Given the description of an element on the screen output the (x, y) to click on. 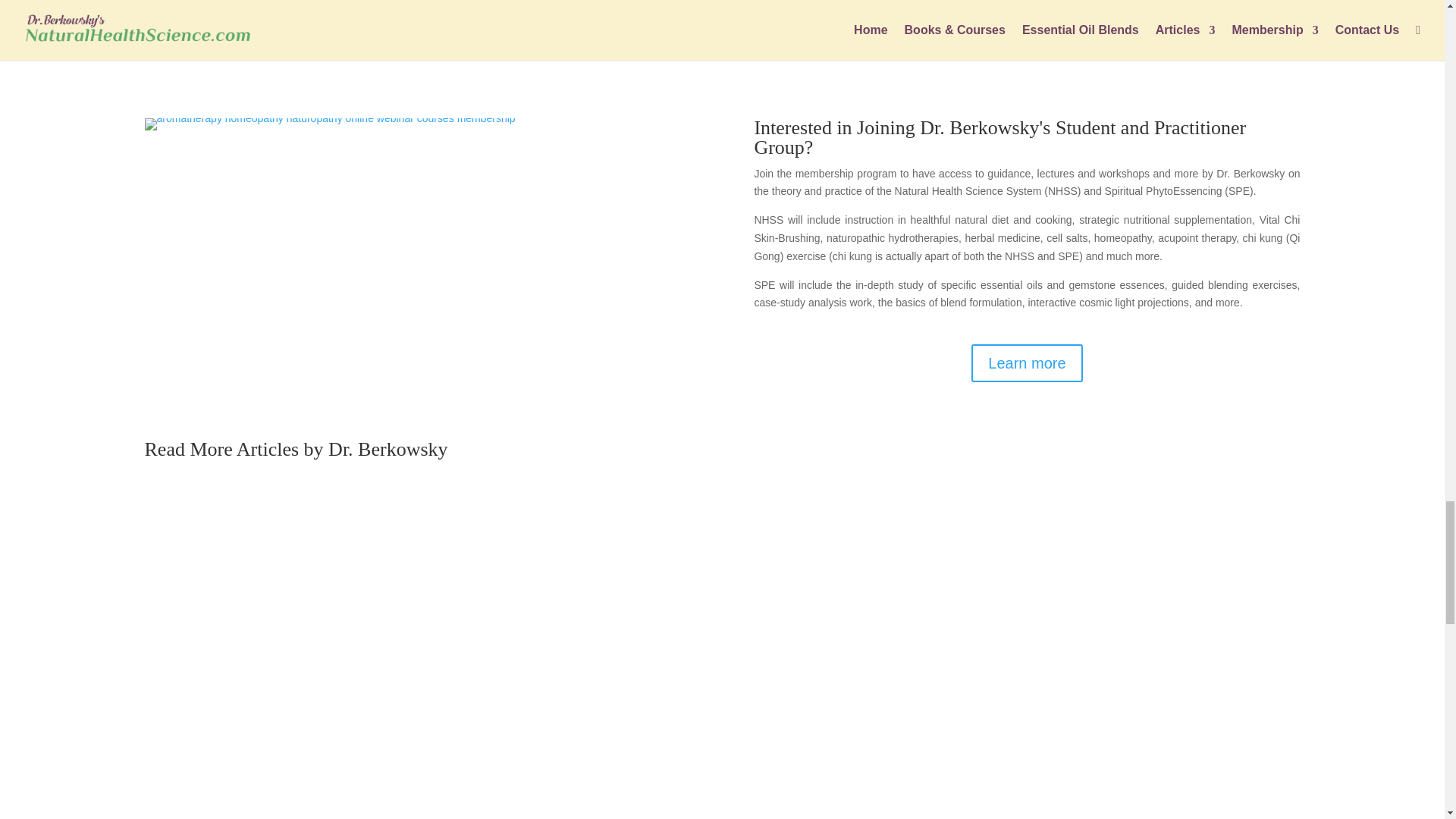
LinkedIn (461, 16)
VKontakte (243, 16)
Tumblr (678, 16)
